Given the description of an element on the screen output the (x, y) to click on. 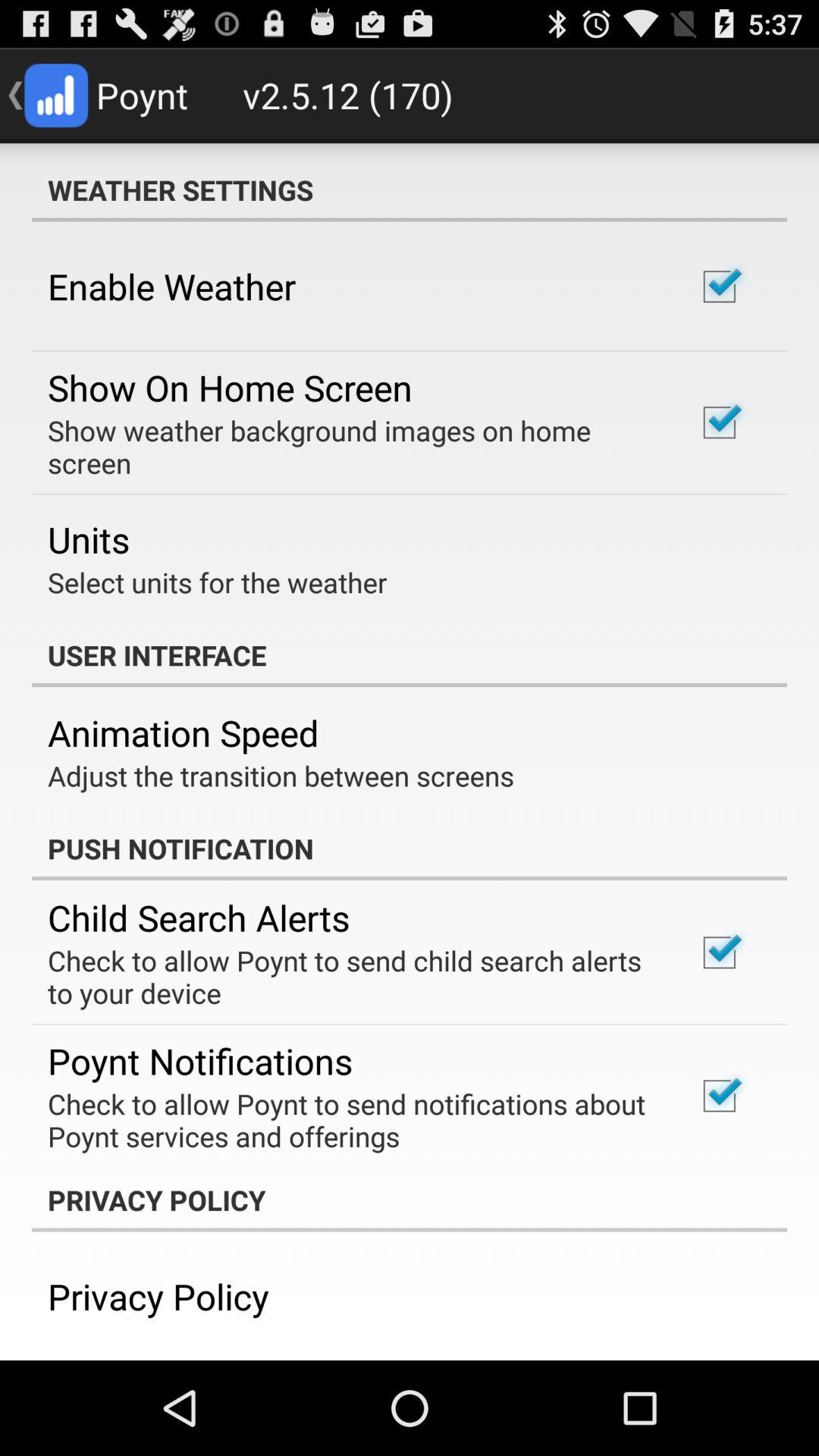
launch the app above units (351, 446)
